Given the description of an element on the screen output the (x, y) to click on. 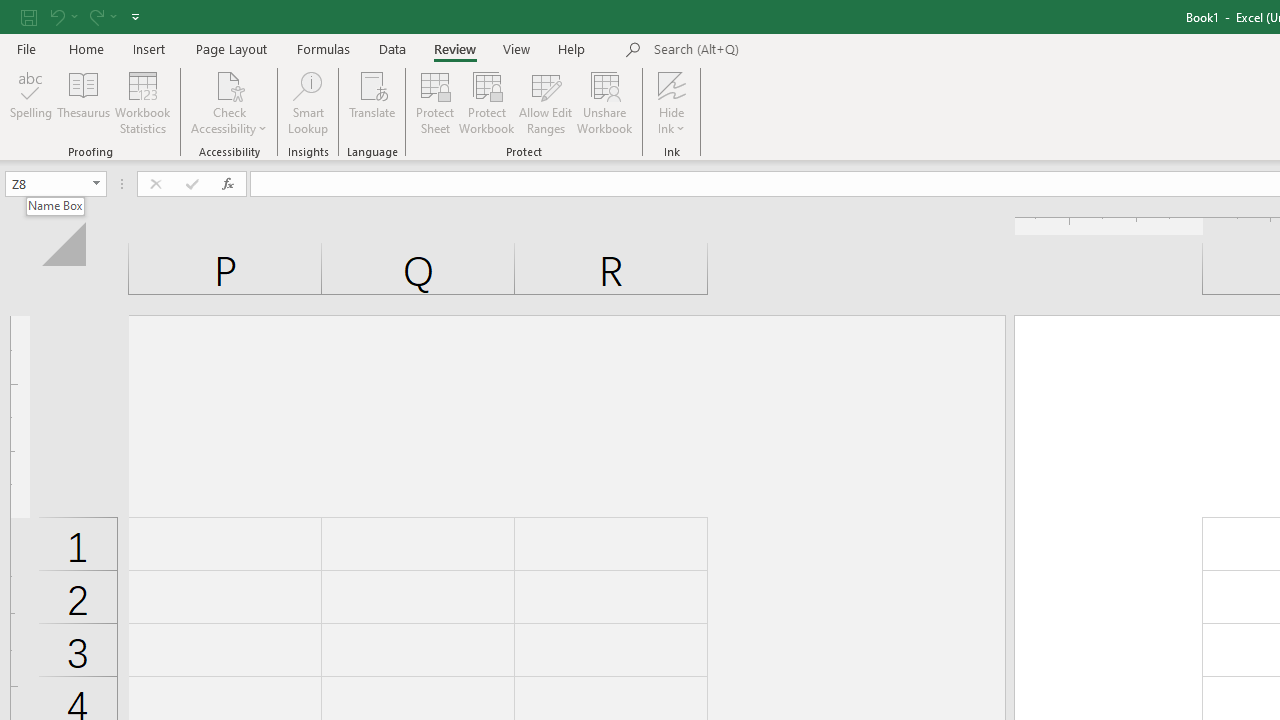
Check Accessibility (229, 102)
Hide Ink (671, 102)
Unshare Workbook (604, 102)
Translate (372, 102)
Thesaurus... (83, 102)
Workbook Statistics (142, 102)
Smart Lookup (308, 102)
